Given the description of an element on the screen output the (x, y) to click on. 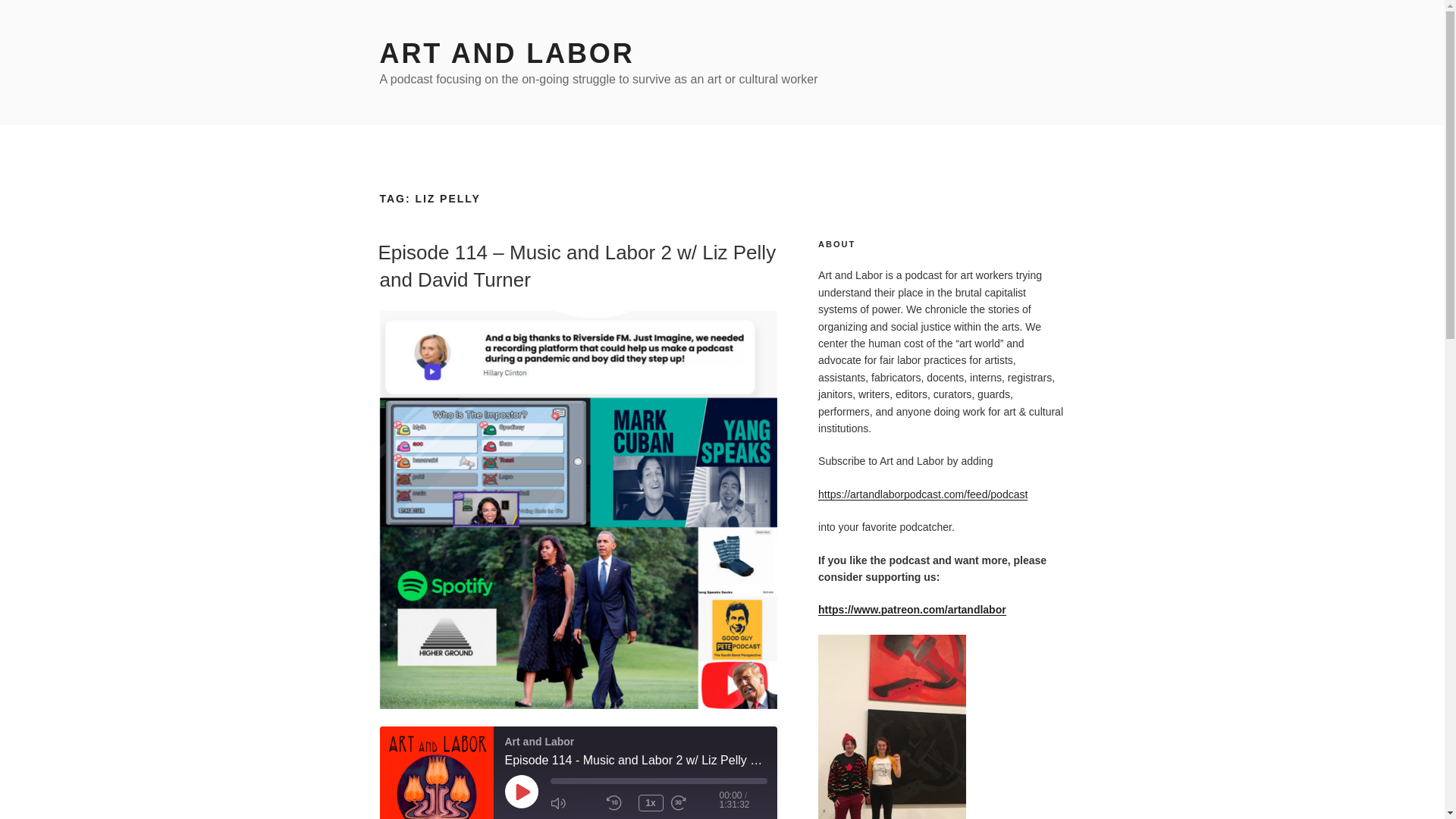
Fast Forward 30 seconds (694, 802)
Art and Labor (435, 772)
Rewind 10 seconds (618, 802)
ART AND LABOR (505, 52)
Play (521, 791)
Seek (658, 780)
Rewind 10 Seconds (618, 802)
1x (651, 802)
Play Episode (521, 791)
Fast Forward 30 seconds (694, 802)
